Given the description of an element on the screen output the (x, y) to click on. 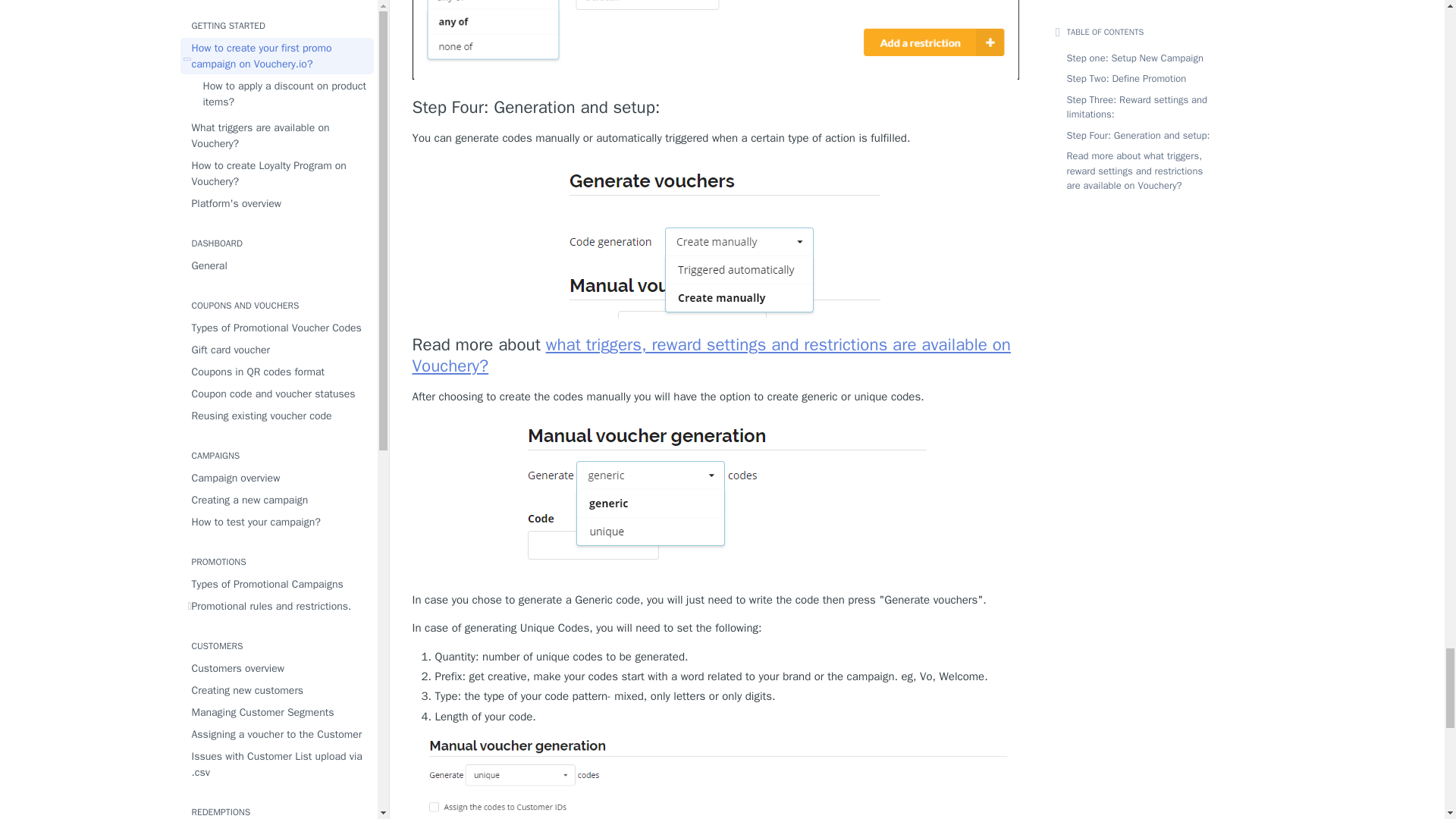
generate vouchers.png (714, 237)
category- customer segment.png (715, 39)
Step Four: Generation and setup: (715, 107)
